Given the description of an element on the screen output the (x, y) to click on. 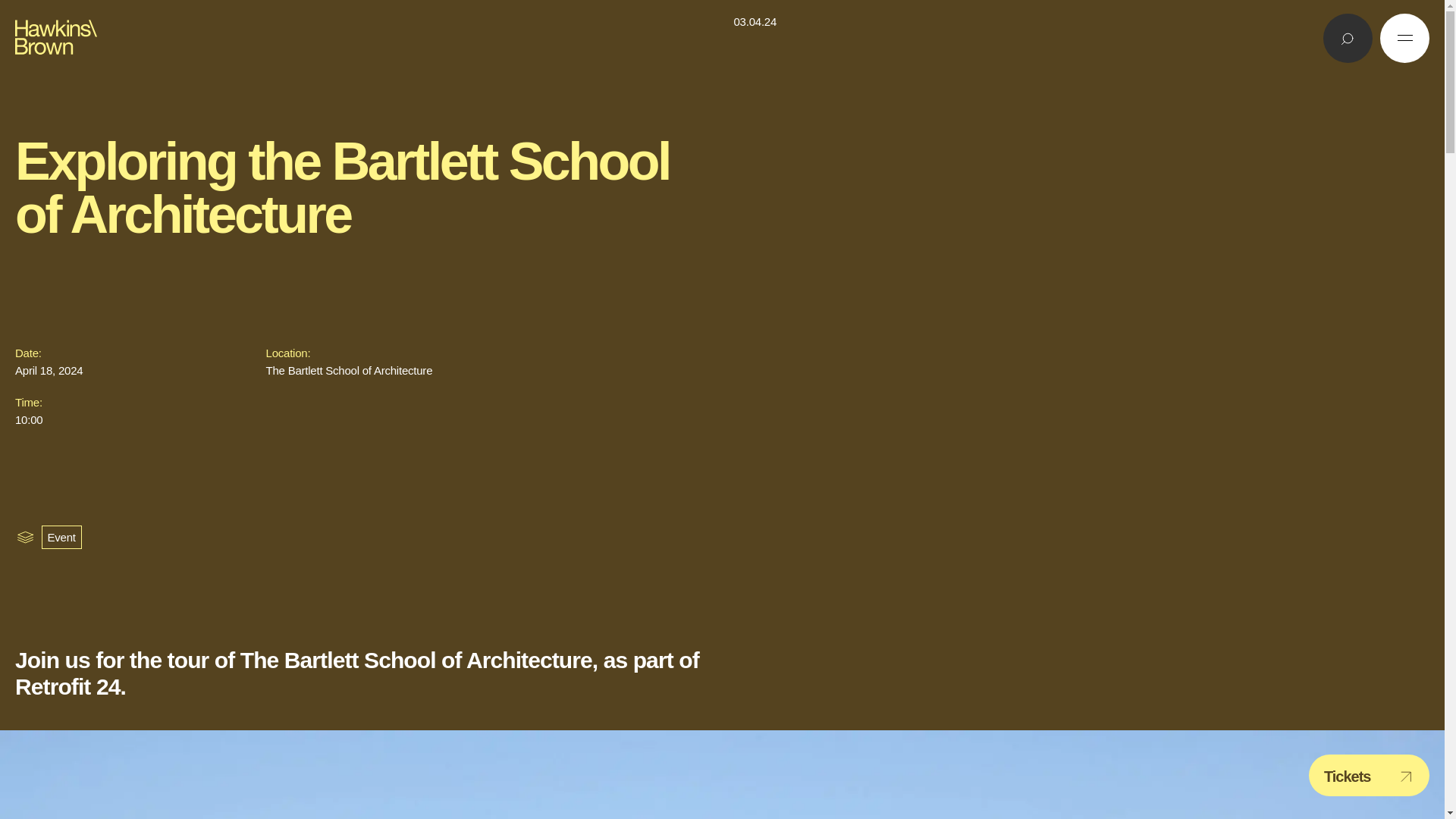
Event (60, 536)
menu button (1404, 38)
search button (1348, 38)
